Given the description of an element on the screen output the (x, y) to click on. 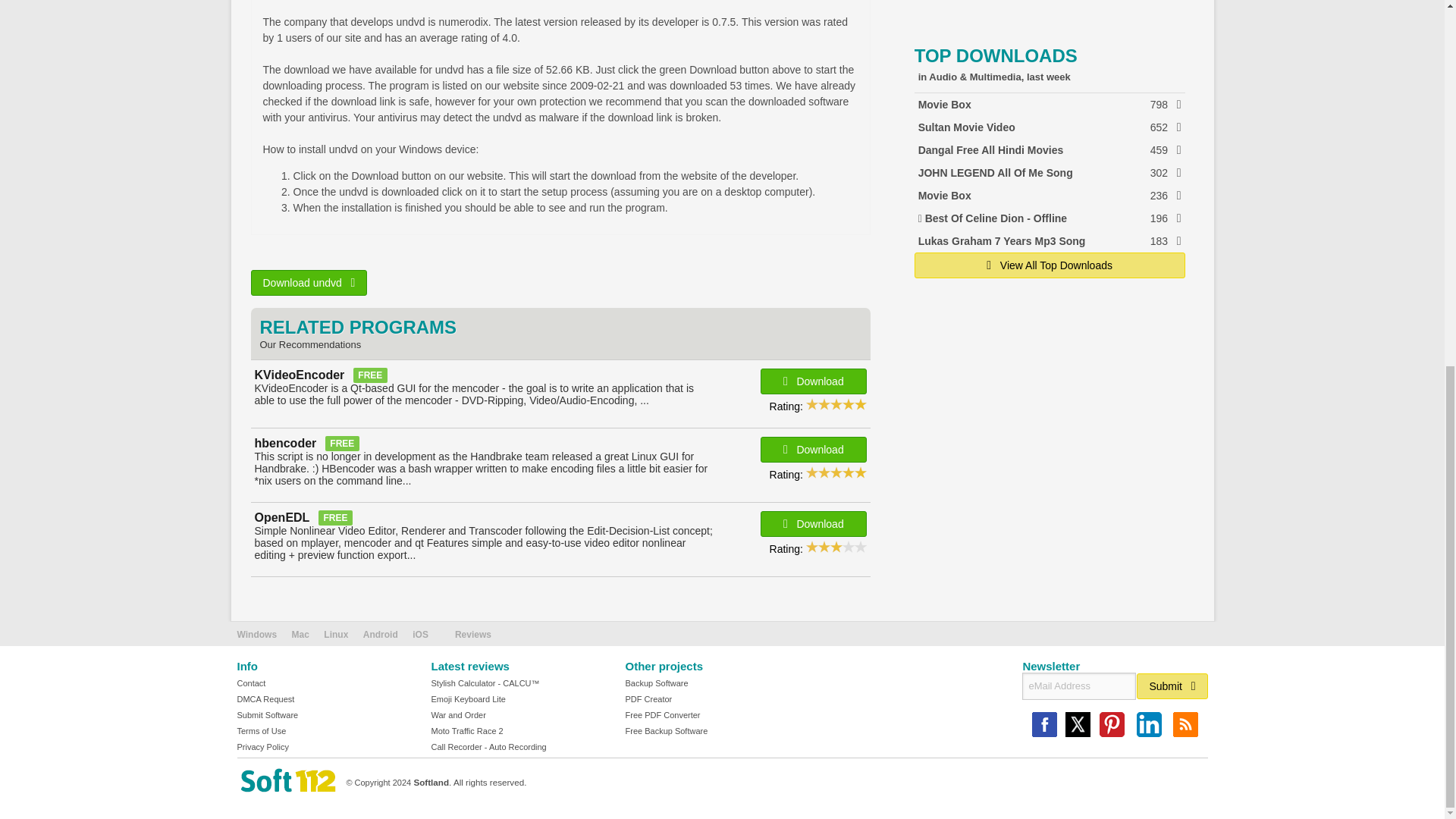
Download undvd   (308, 282)
  Download (1049, 104)
  Download (1049, 149)
  Download (813, 449)
